Given the description of an element on the screen output the (x, y) to click on. 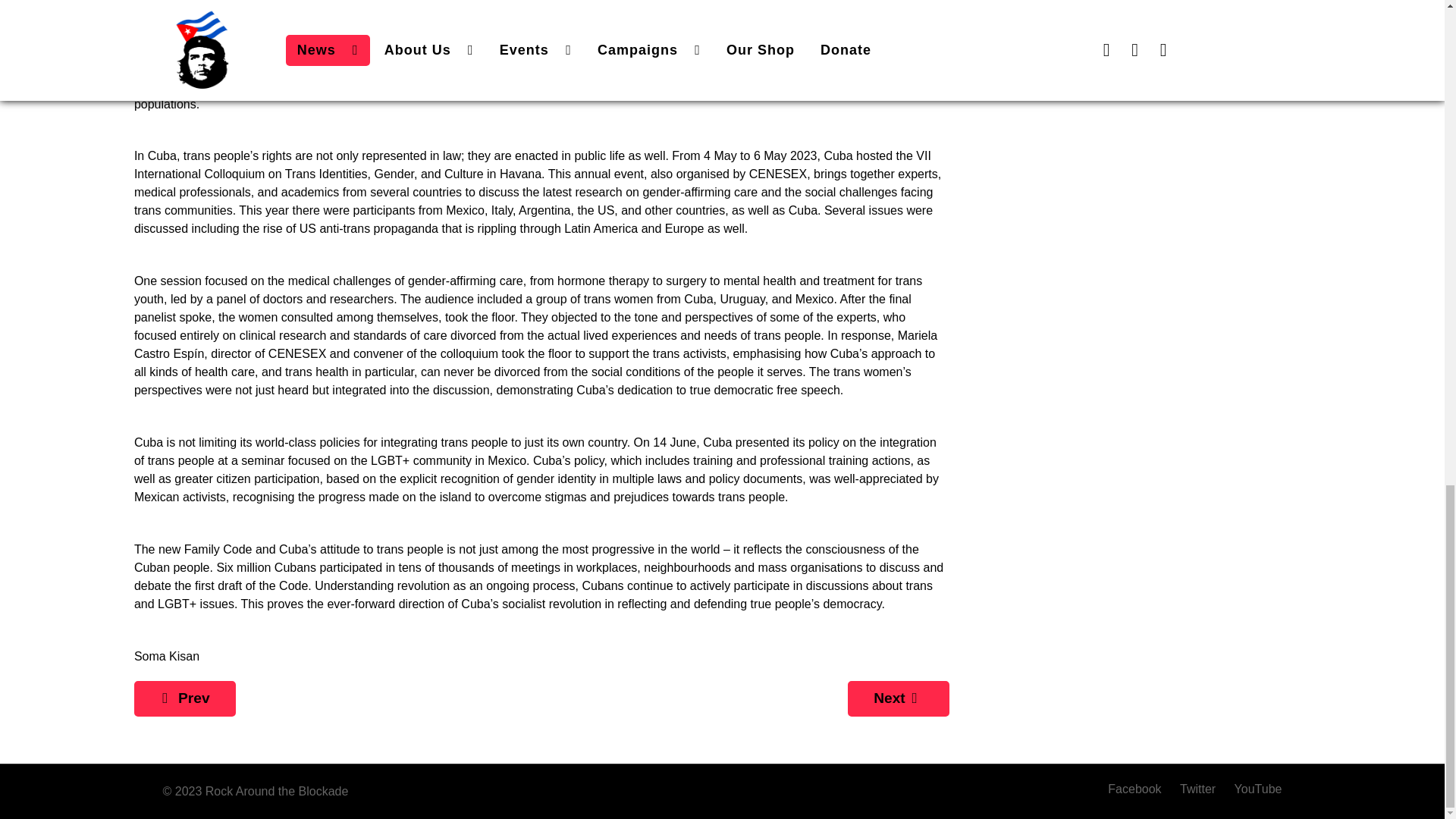
YouTube (1254, 788)
Twitter (1199, 788)
Blockade of Cuba restricts access to cancer drug worldwide (184, 697)
End the blockade! Cuba is not a state sponsor of terrorism! (898, 697)
Facebook (1140, 788)
